Given the description of an element on the screen output the (x, y) to click on. 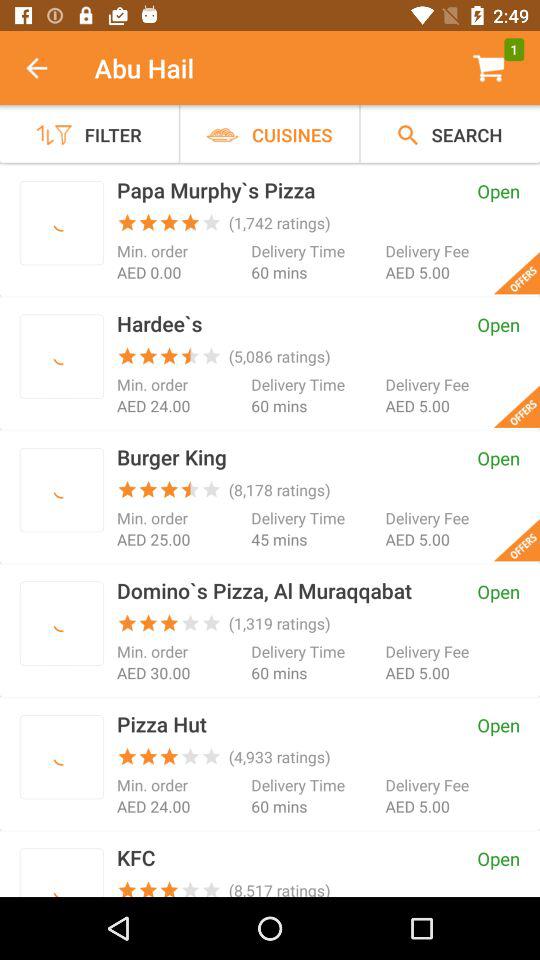
select option (61, 876)
